Given the description of an element on the screen output the (x, y) to click on. 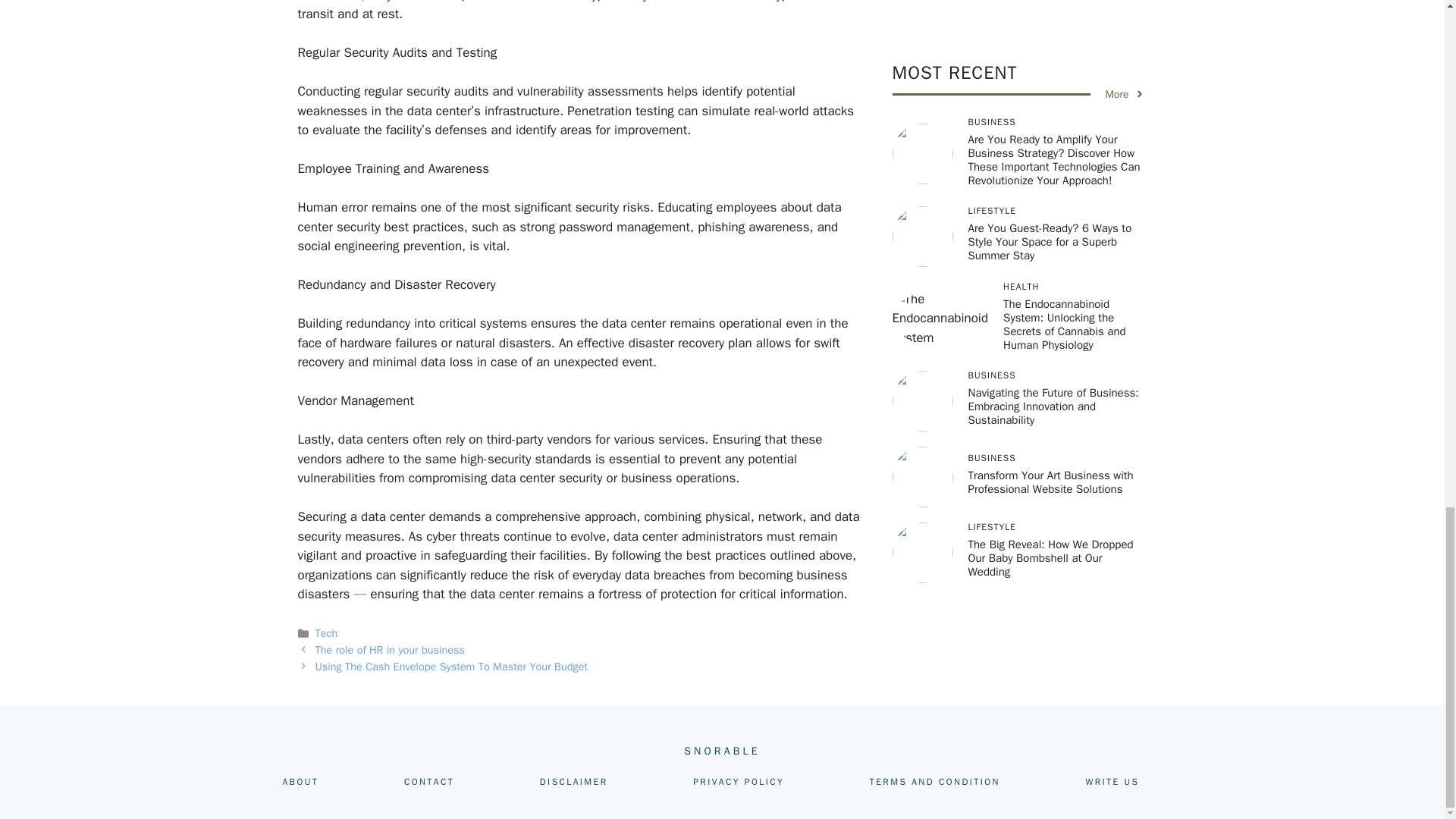
The role of HR in your business (390, 649)
TERMS AND CONDITION (934, 781)
DISCLAIMER (574, 781)
WRITE US (1111, 781)
Using The Cash Envelope System To Master Your Budget (451, 666)
SNORABLE (722, 750)
PRIVACY POLICY (738, 781)
Tech (326, 632)
CONTACT (429, 781)
ABOUT (300, 781)
